Given the description of an element on the screen output the (x, y) to click on. 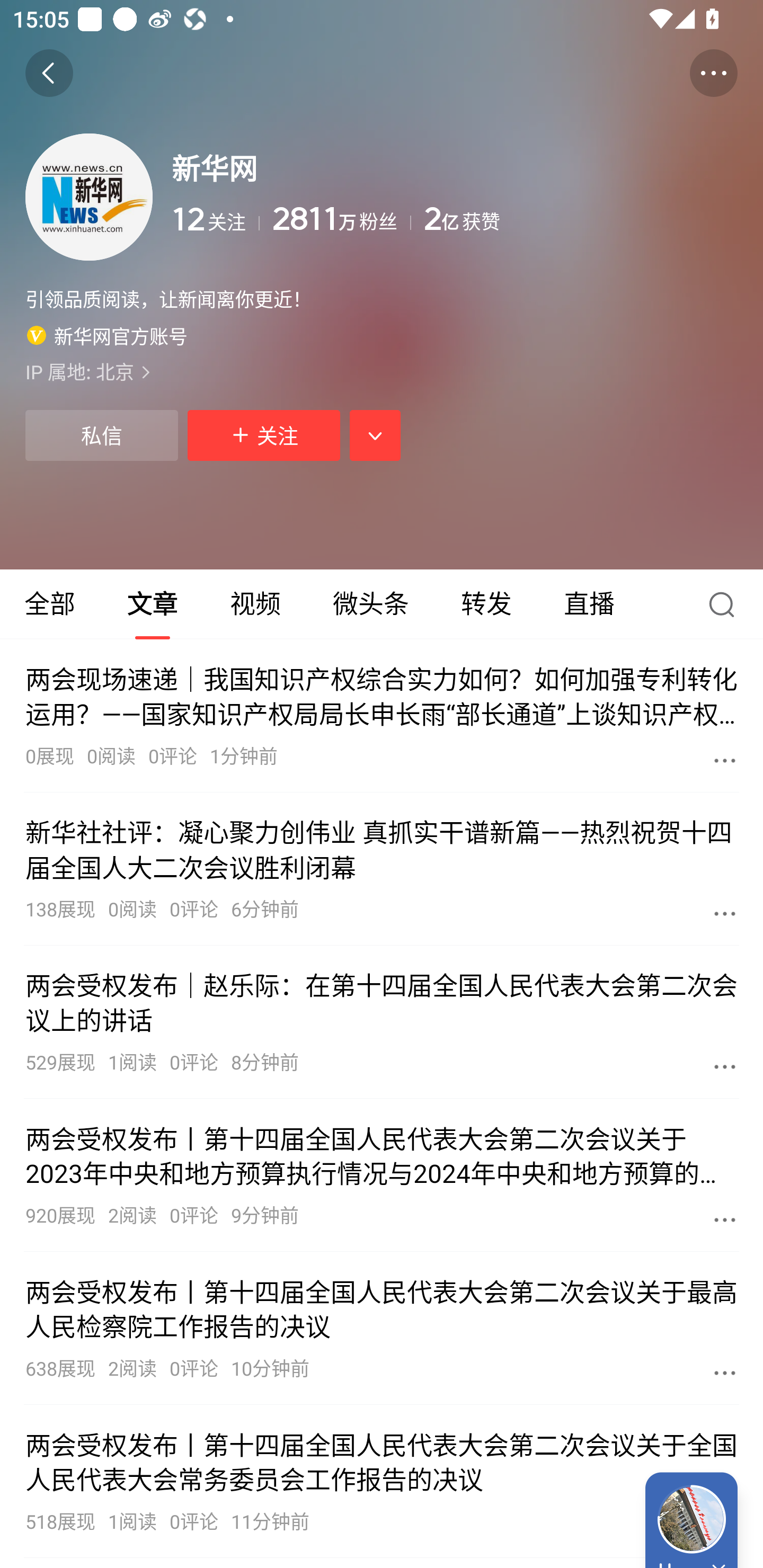
返回 (49, 72)
更多操作 (713, 72)
头像 (88, 196)
12 关注 (215, 219)
2811万 粉丝 (341, 219)
2亿 获赞 (580, 219)
新华网官方账号 (106, 335)
IP 属地: 北京 (381, 371)
私信 (101, 434)
     关注 (263, 434)
展开相关推荐，按钮 (374, 434)
全部 (50, 604)
文章 (152, 604)
视频 (254, 604)
微头条 (370, 604)
转发 (485, 604)
直播 (588, 604)
搜索 (726, 604)
更多 (724, 760)
更多 (724, 913)
更多 (724, 1065)
更多 (724, 1219)
更多 (724, 1371)
当前进度 75% (691, 1518)
